Given the description of an element on the screen output the (x, y) to click on. 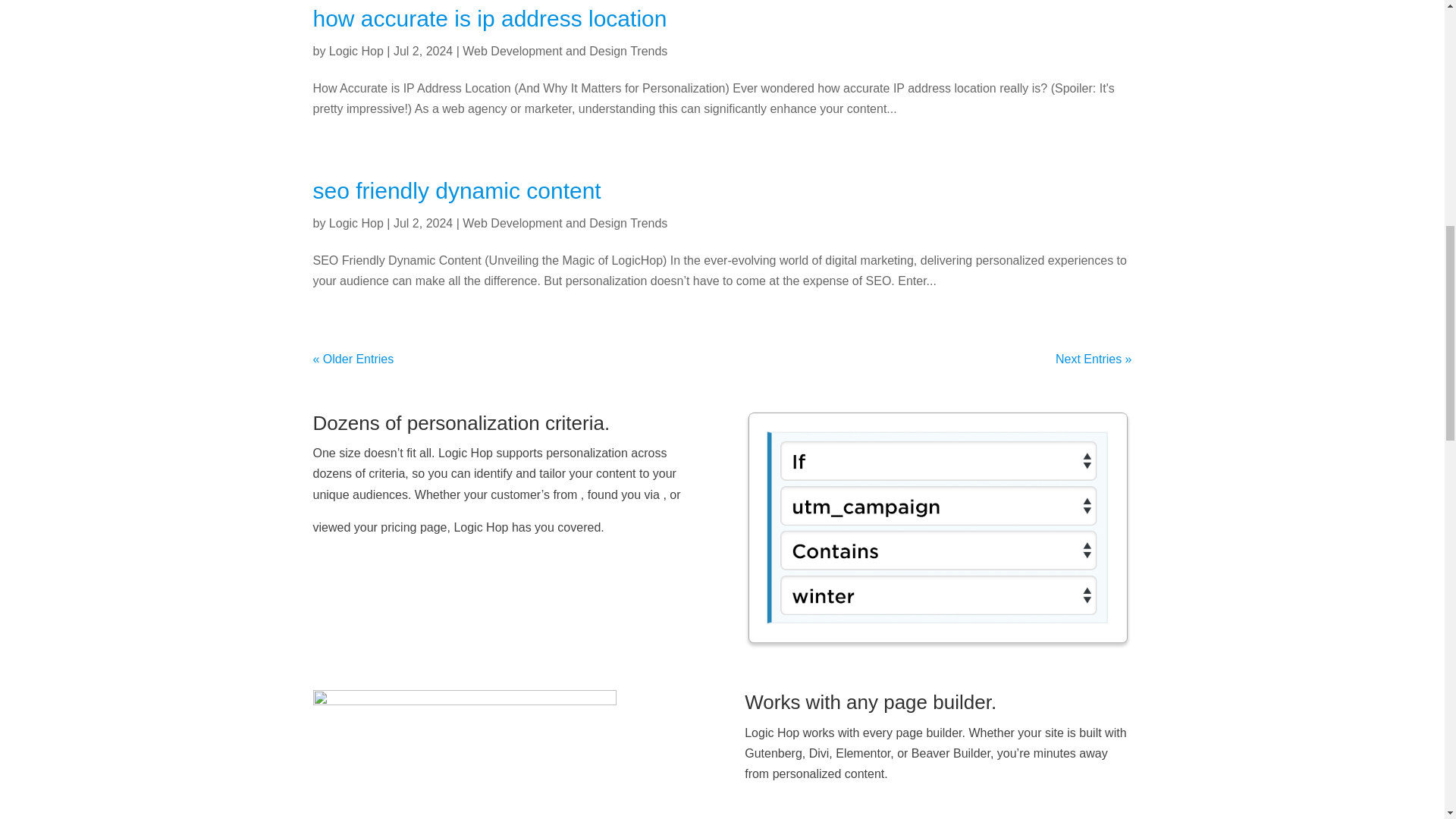
Posts by Logic Hop (356, 51)
how accurate is ip address location (489, 18)
Web Development and Design Trends (564, 51)
Condition Builder (937, 530)
Logic Hop (356, 51)
seo friendly dynamic content (456, 190)
Web Development and Design Trends (564, 223)
Logic Hop (356, 223)
Posts by Logic Hop (356, 223)
